Given the description of an element on the screen output the (x, y) to click on. 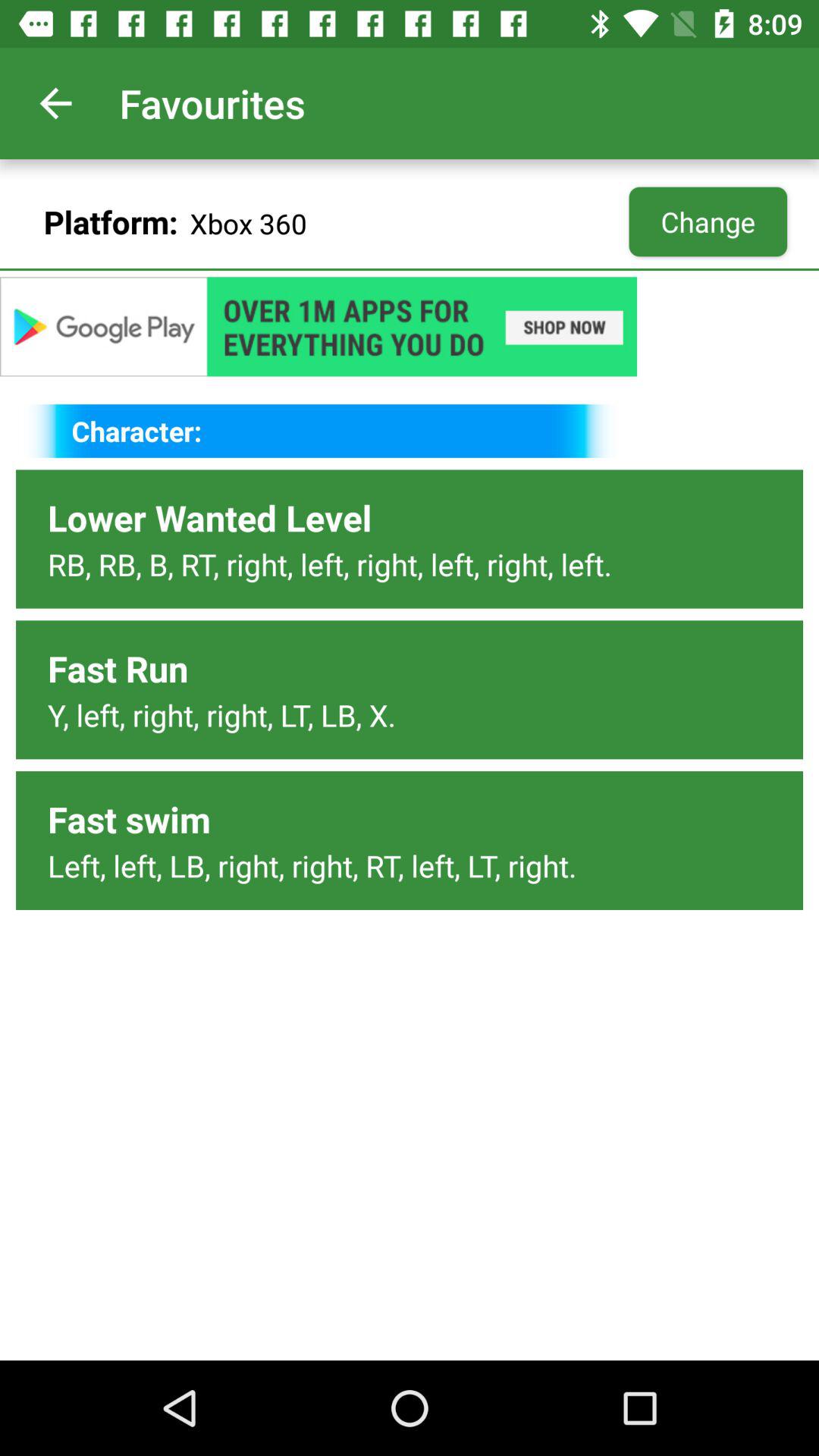
open advertisement (409, 326)
